Given the description of an element on the screen output the (x, y) to click on. 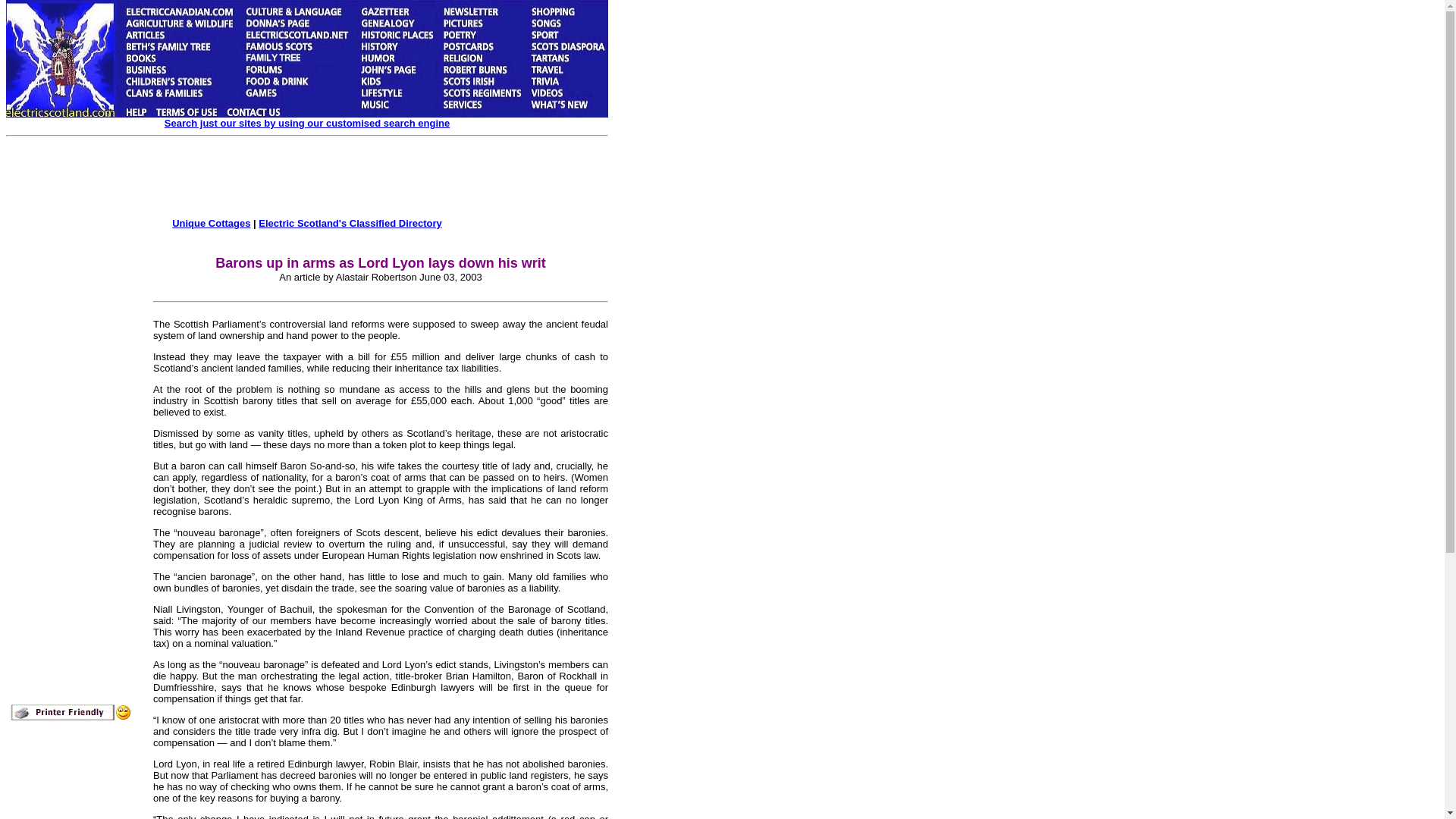
Unique Cottages (210, 223)
Electric Scotland's Classified Directory (350, 223)
advertisement (334, 178)
Search just our sites by using our customised search engine (306, 122)
